Given the description of an element on the screen output the (x, y) to click on. 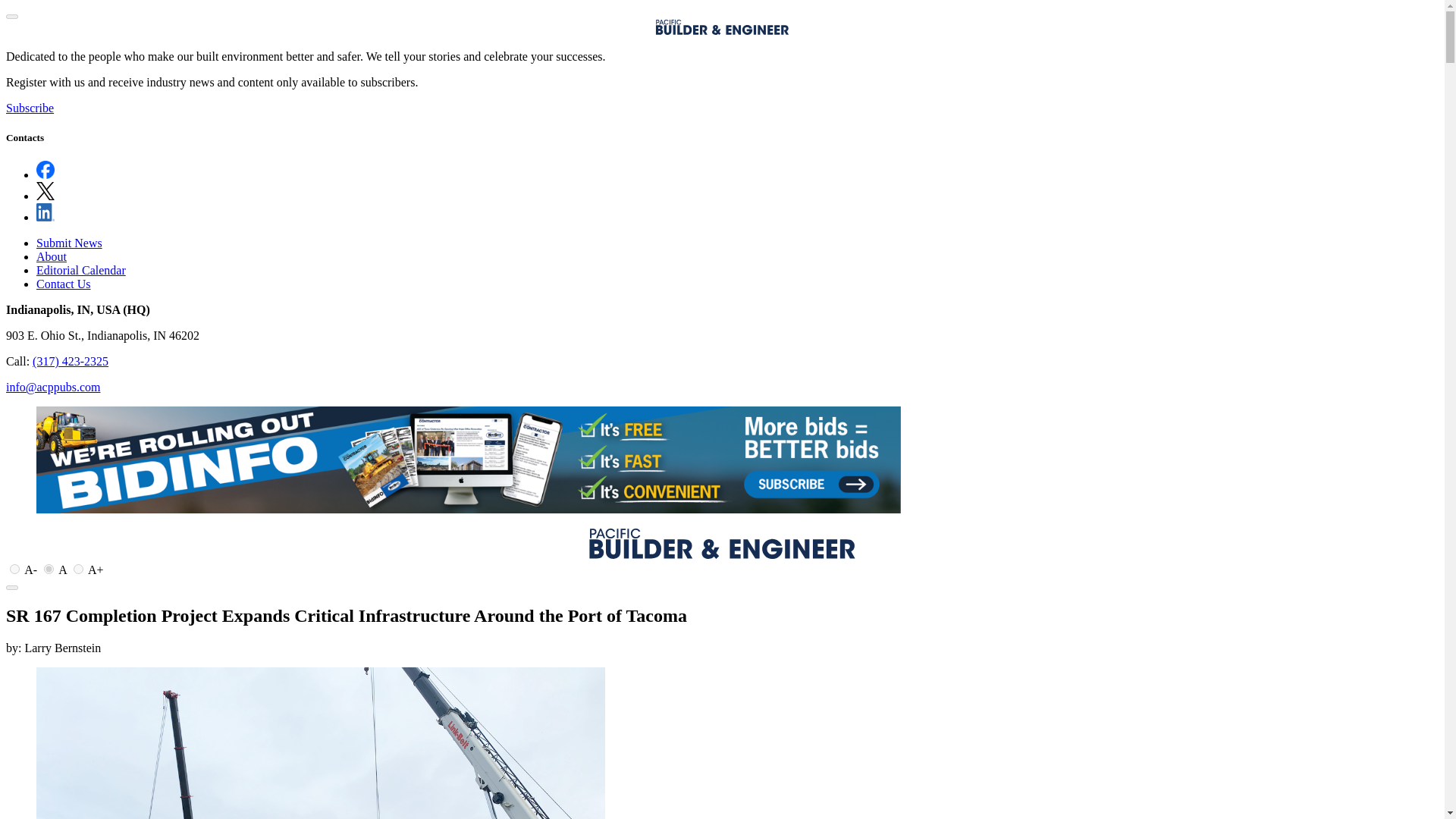
Contact Us (63, 283)
About (51, 256)
Editorial Calendar (80, 269)
on (48, 569)
on (15, 569)
Submit News (68, 242)
Subscribe (29, 107)
on (78, 569)
